Given the description of an element on the screen output the (x, y) to click on. 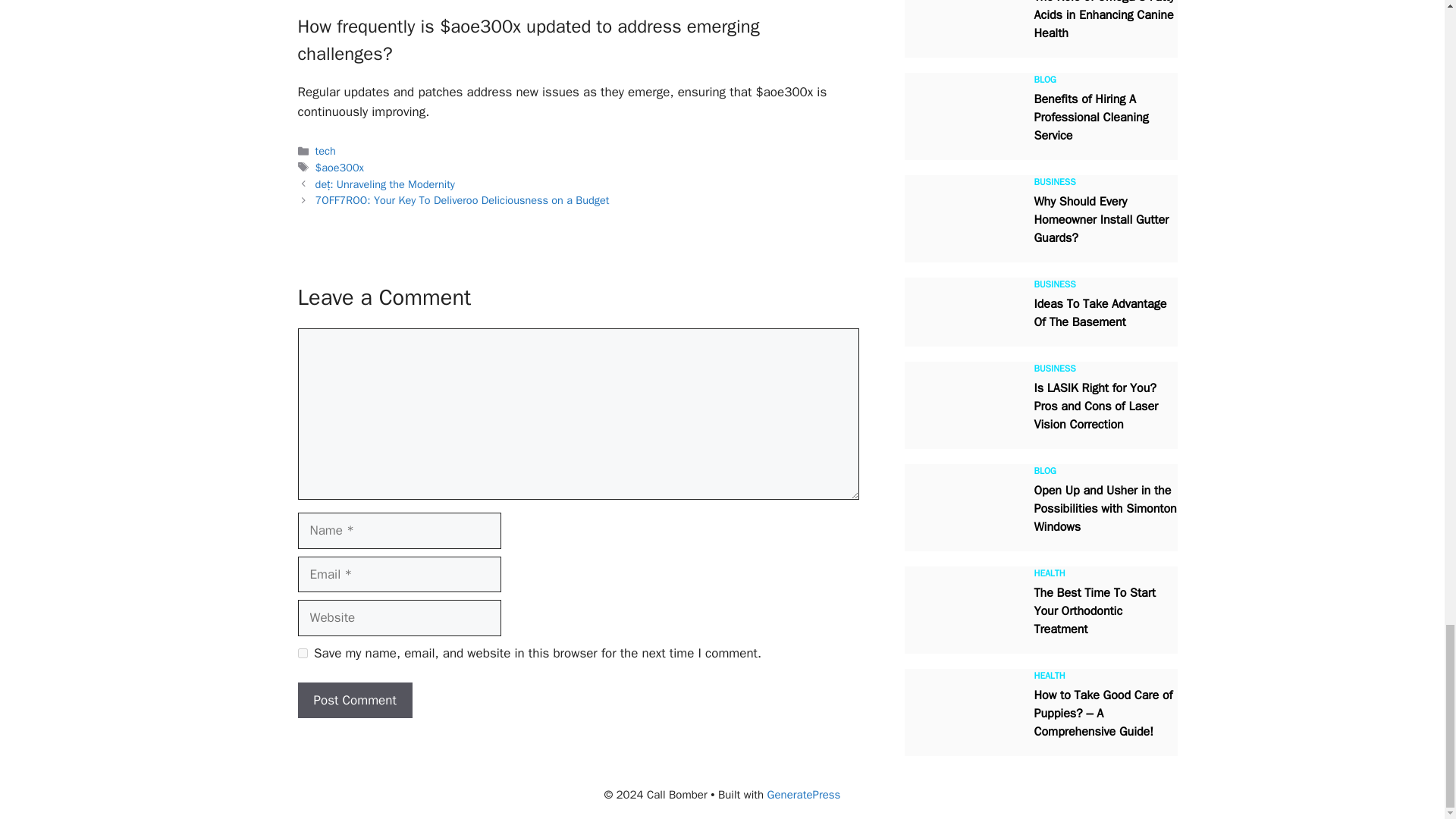
7OFF7ROO: Your Key To Deliveroo Deliciousness on a Budget (462, 200)
Post Comment (354, 700)
Post Comment (354, 700)
tech (325, 151)
yes (302, 653)
